Given the description of an element on the screen output the (x, y) to click on. 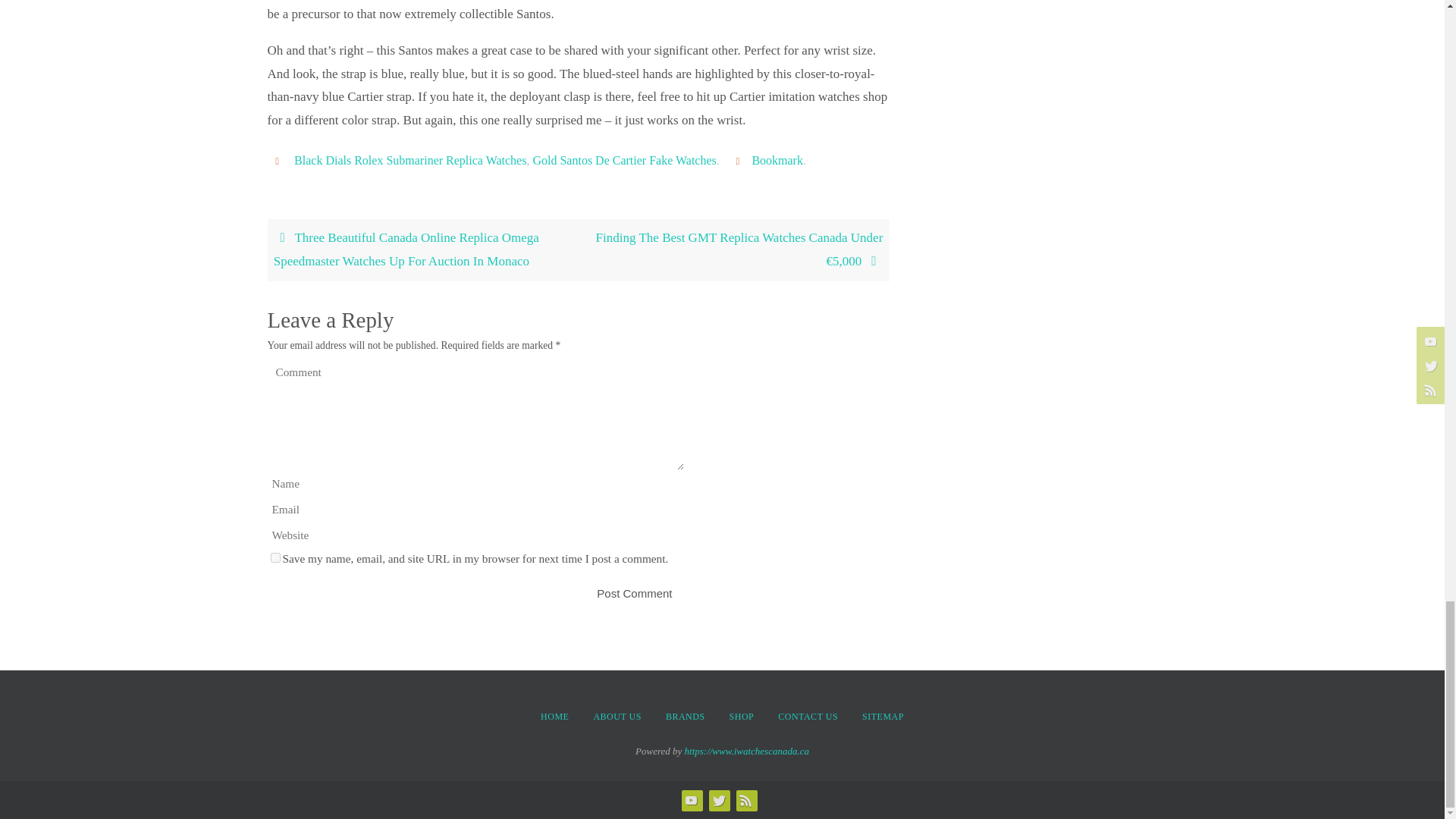
Tagged (278, 160)
yes (274, 557)
 Bookmark the permalink (739, 160)
Post Comment (634, 593)
